Given the description of an element on the screen output the (x, y) to click on. 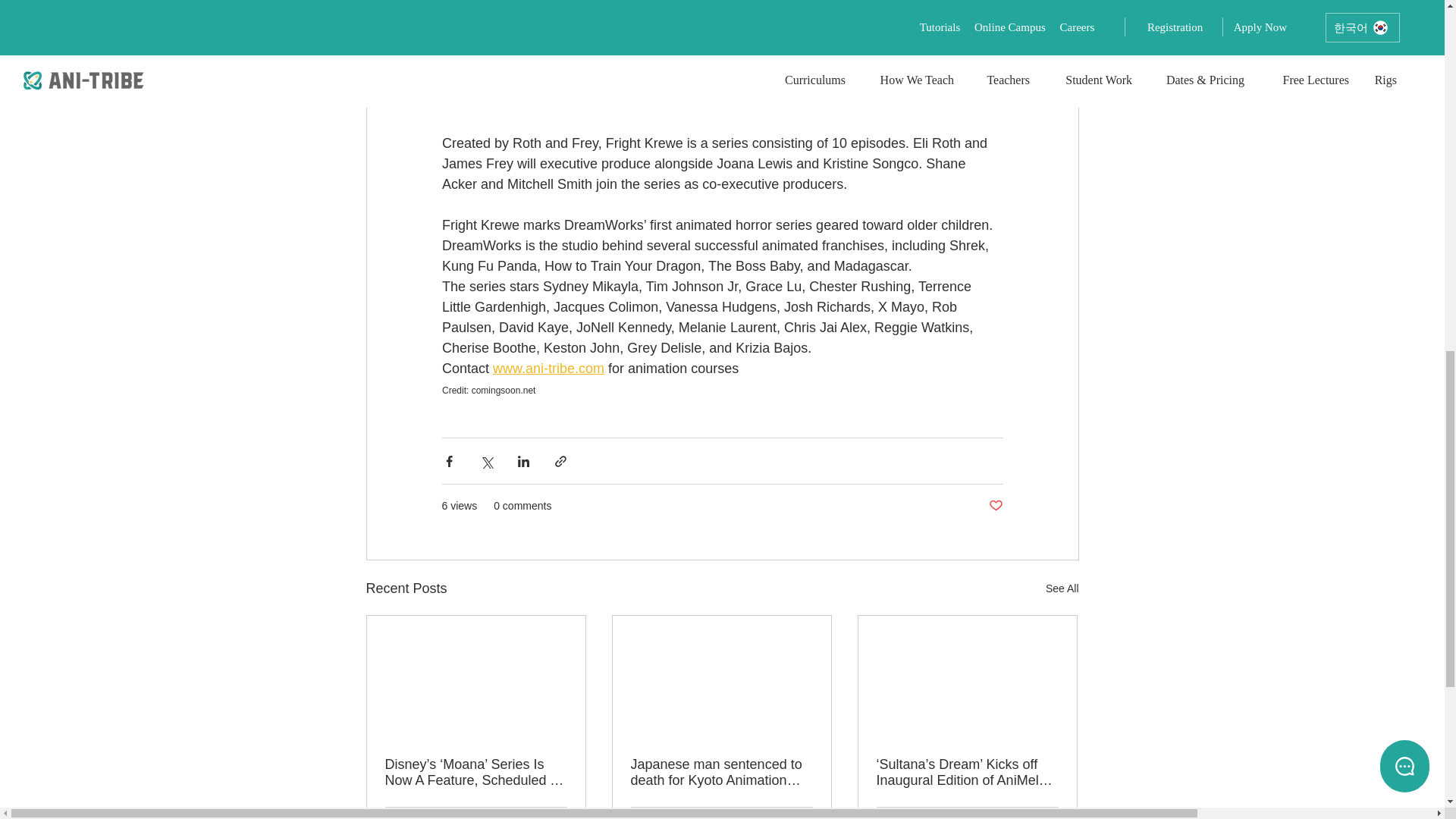
See All (1061, 588)
www.ani-tribe.com (548, 368)
Post not marked as liked (995, 505)
